Given the description of an element on the screen output the (x, y) to click on. 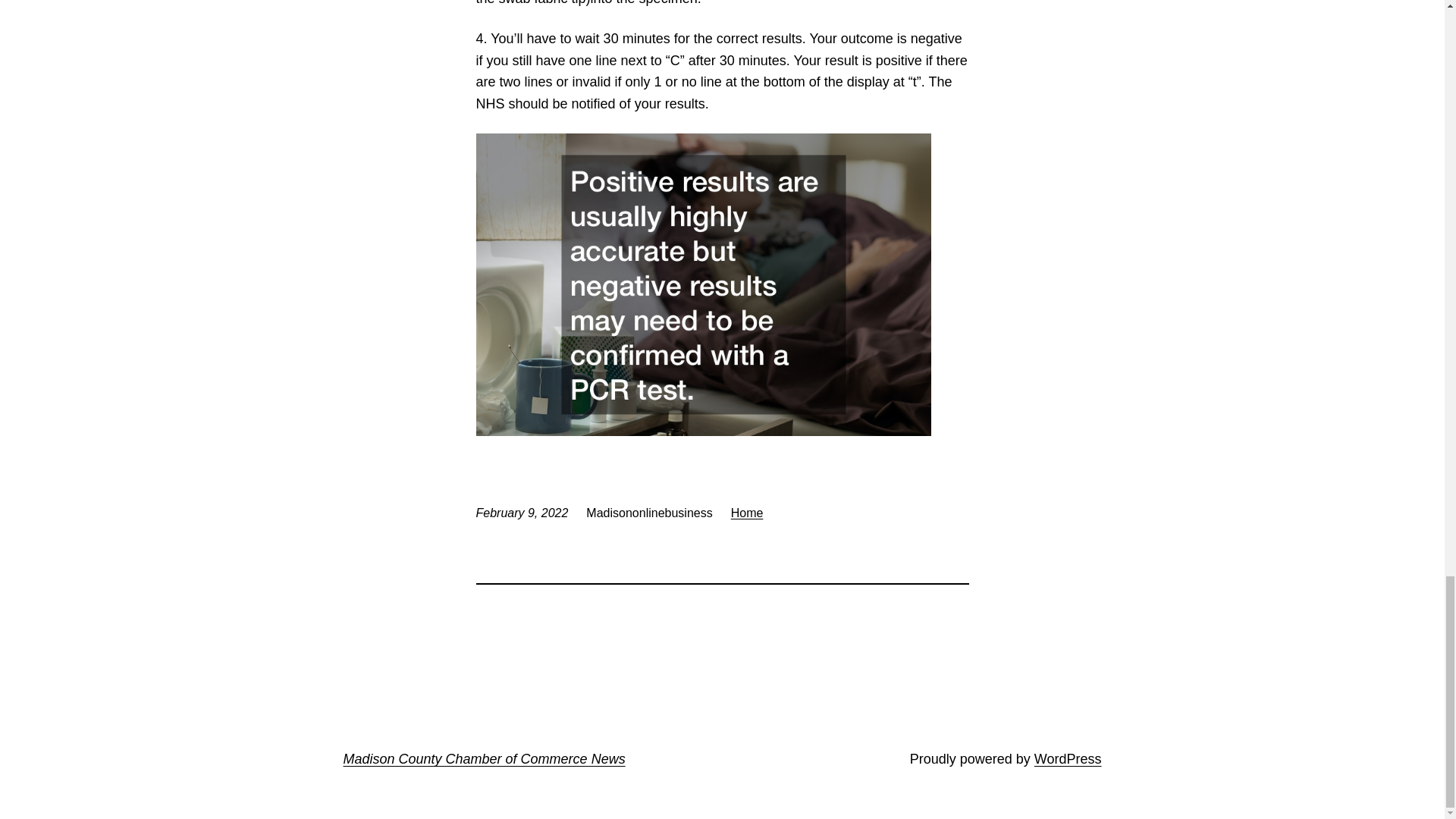
Home (746, 512)
WordPress (1067, 758)
Madison County Chamber of Commerce News (483, 758)
